Given the description of an element on the screen output the (x, y) to click on. 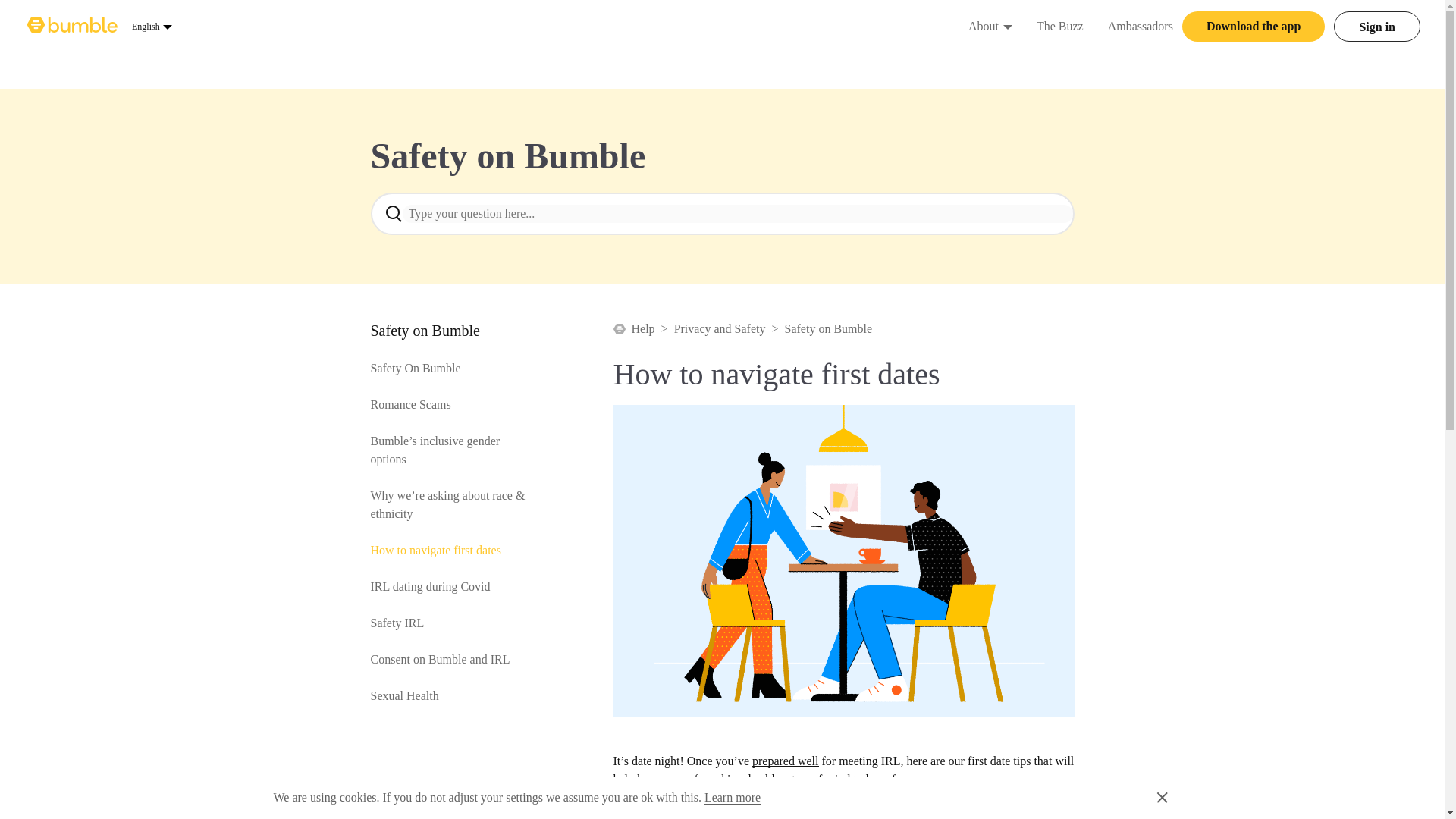
Download the app (1253, 26)
About (983, 26)
The Buzz (1059, 26)
Bumble homepage (72, 25)
Expand About (1007, 26)
Ambassadors (151, 26)
